Given the description of an element on the screen output the (x, y) to click on. 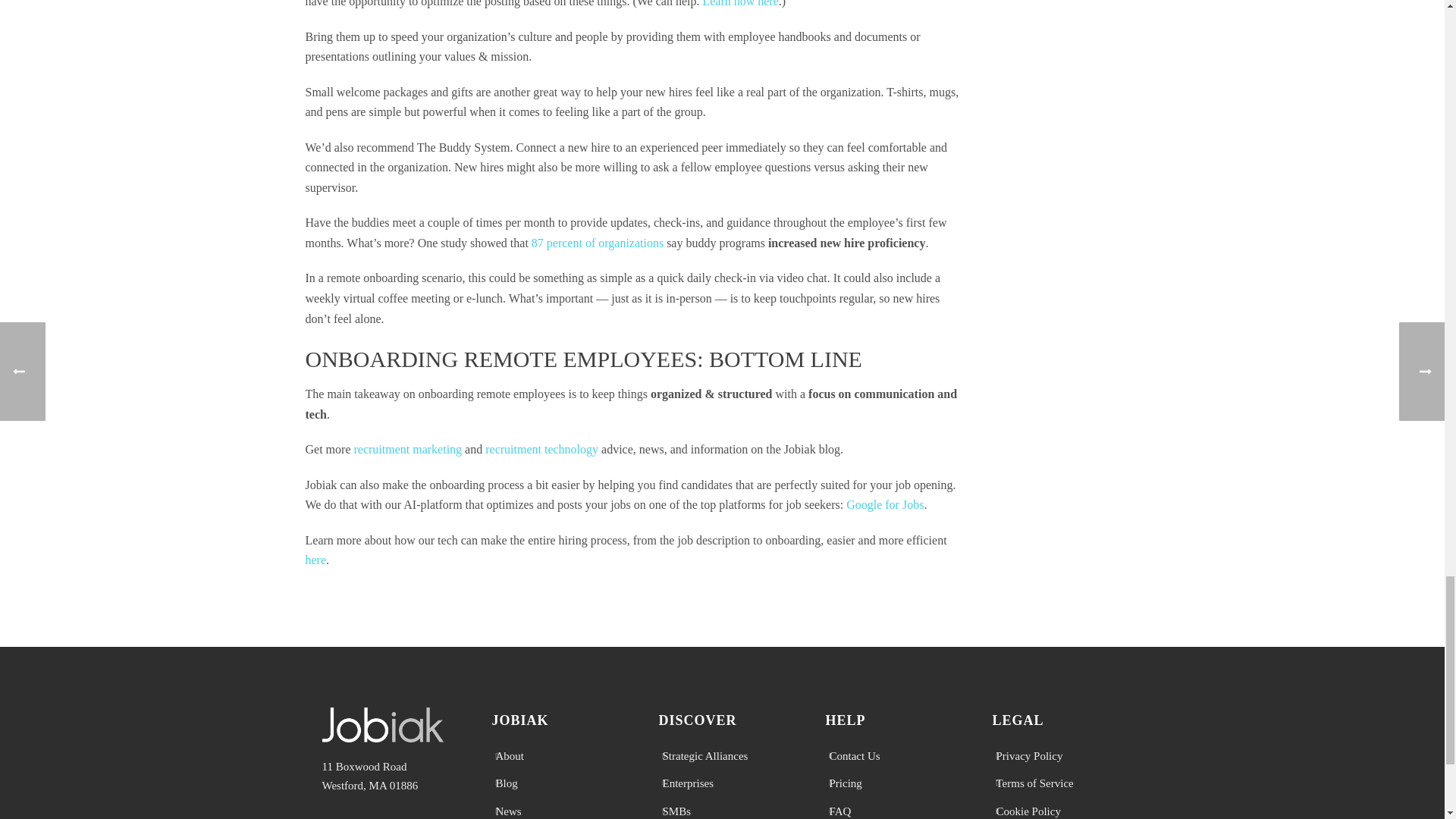
recruitment marketing (407, 449)
Google for Jobs (884, 504)
Learn how here (739, 3)
recruitment technology (541, 449)
87 percent of organizations (597, 242)
